Given the description of an element on the screen output the (x, y) to click on. 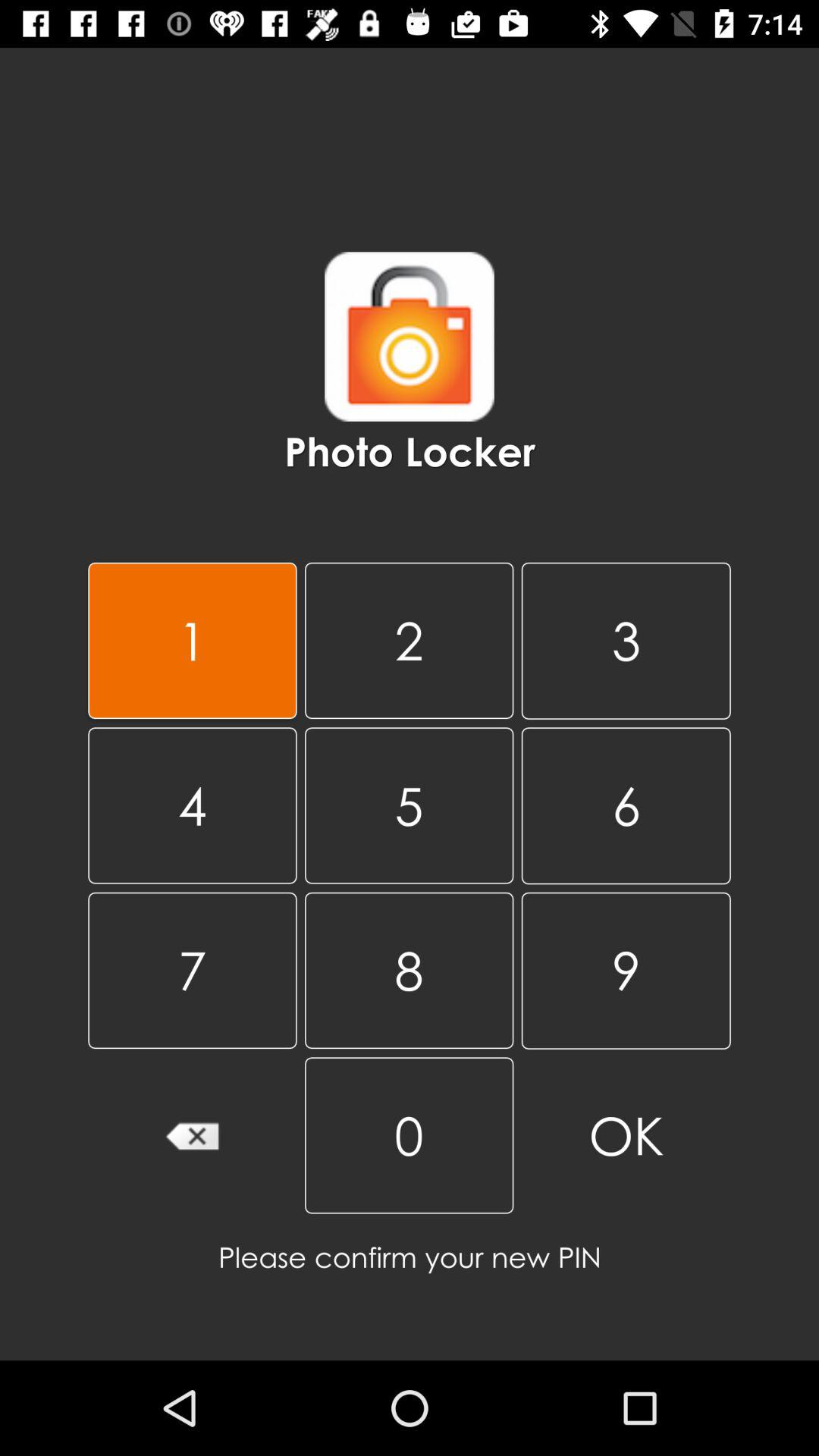
turn off item to the right of the 7 icon (408, 1135)
